Given the description of an element on the screen output the (x, y) to click on. 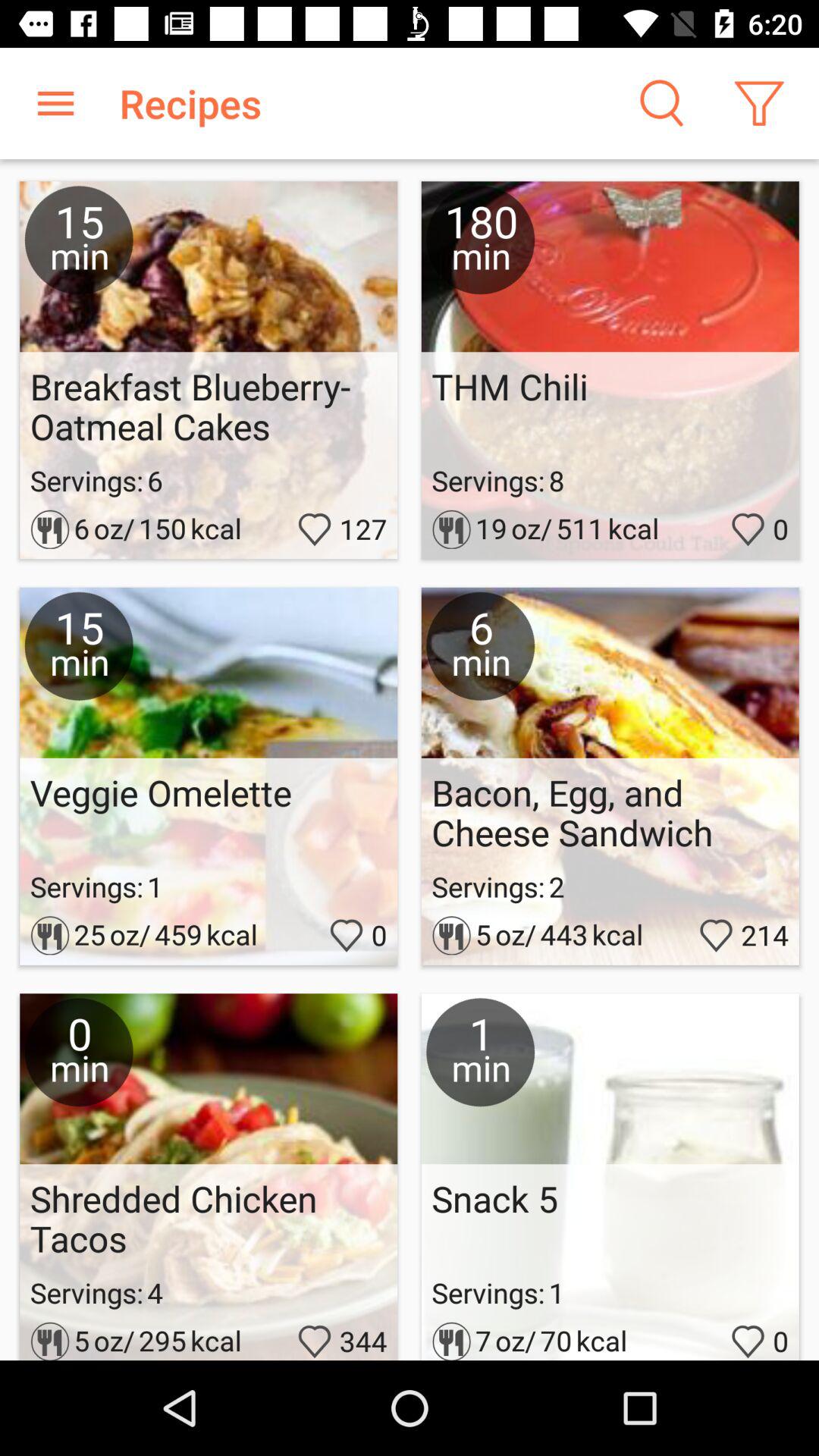
turn on item to the left of recipes icon (55, 103)
